Given the description of an element on the screen output the (x, y) to click on. 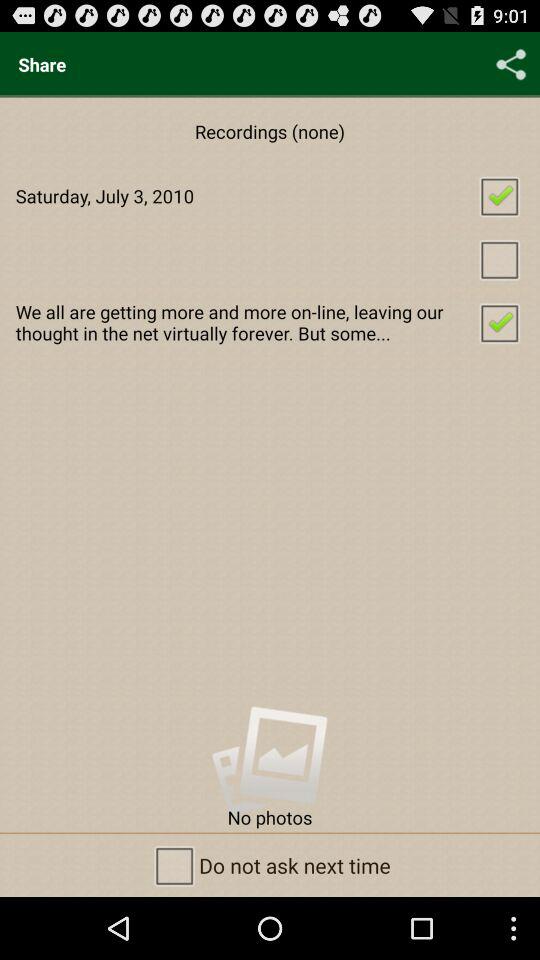
click icon below saturday july 3 checkbox (269, 258)
